Given the description of an element on the screen output the (x, y) to click on. 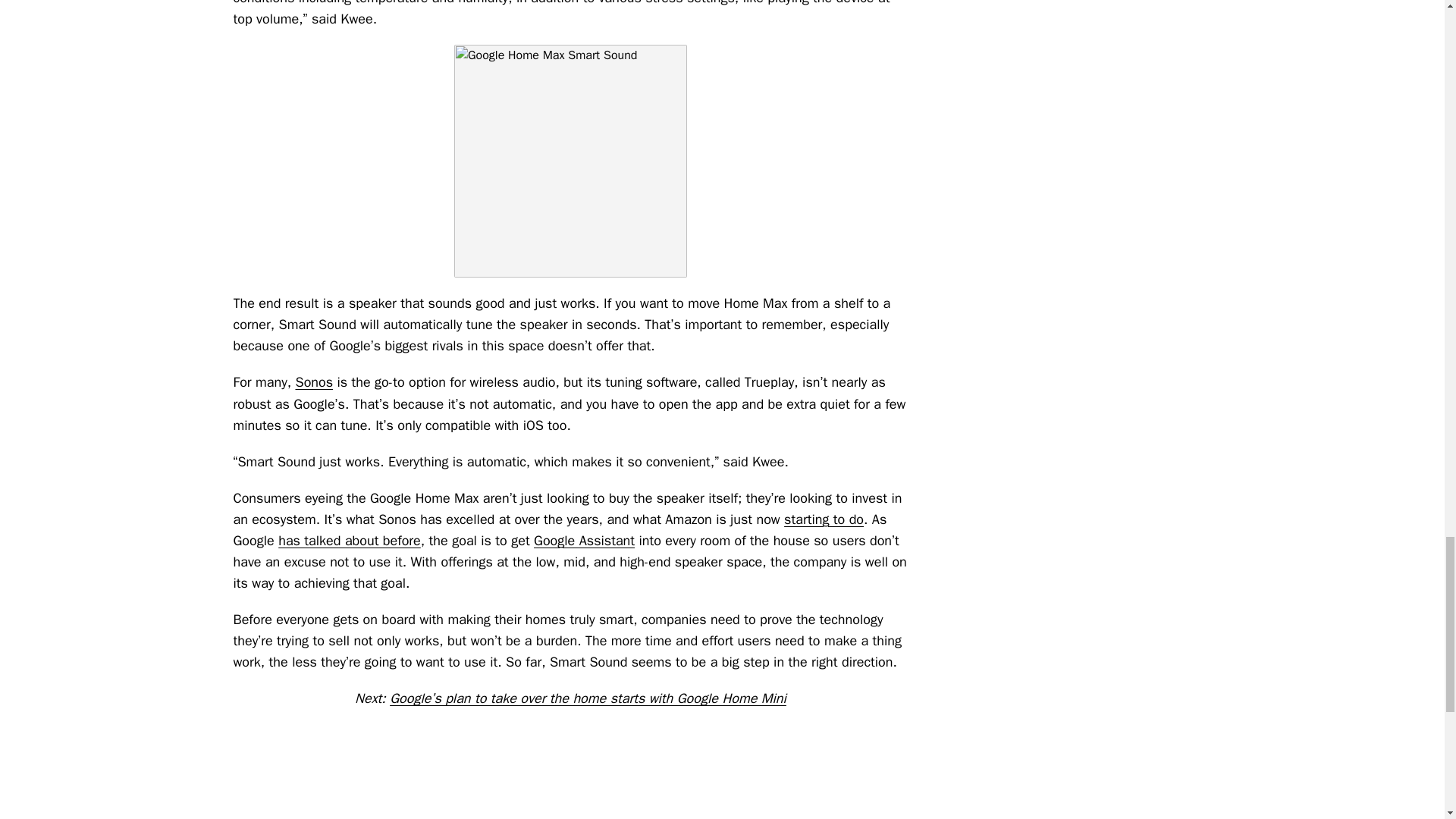
has talked about before (349, 540)
Google Assistant (584, 540)
starting to do (823, 519)
Google Home Max Smart Sound (570, 161)
Sonos (314, 381)
